Given the description of an element on the screen output the (x, y) to click on. 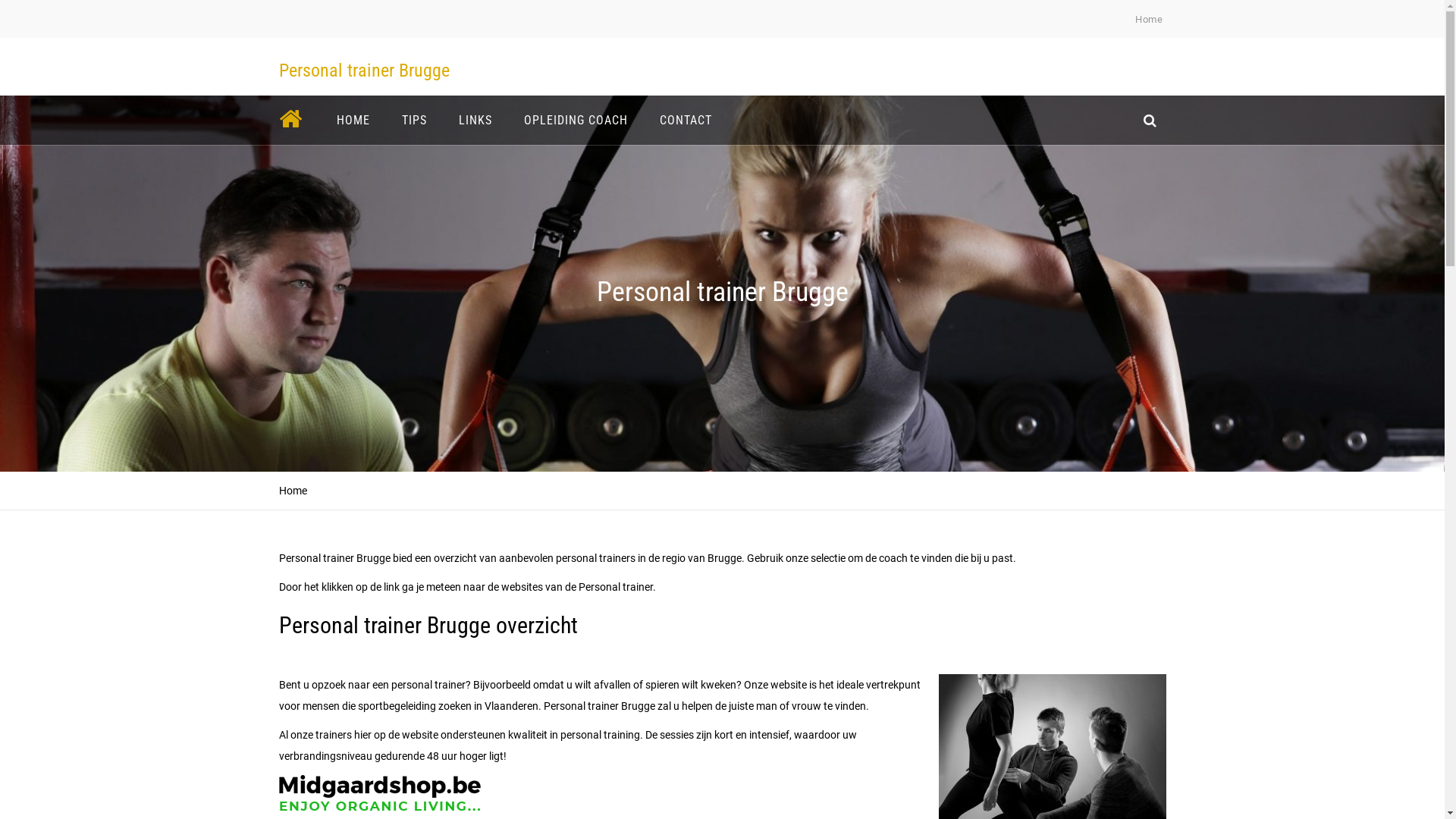
Personal trainer Brugge Element type: text (364, 70)
LINKS Element type: text (475, 119)
CONTACT Element type: text (685, 119)
TIPS Element type: text (413, 119)
HOME Element type: text (352, 119)
OPLEIDING COACH Element type: text (575, 119)
search_icon Element type: hover (1148, 119)
Home Element type: text (1148, 19)
